Given the description of an element on the screen output the (x, y) to click on. 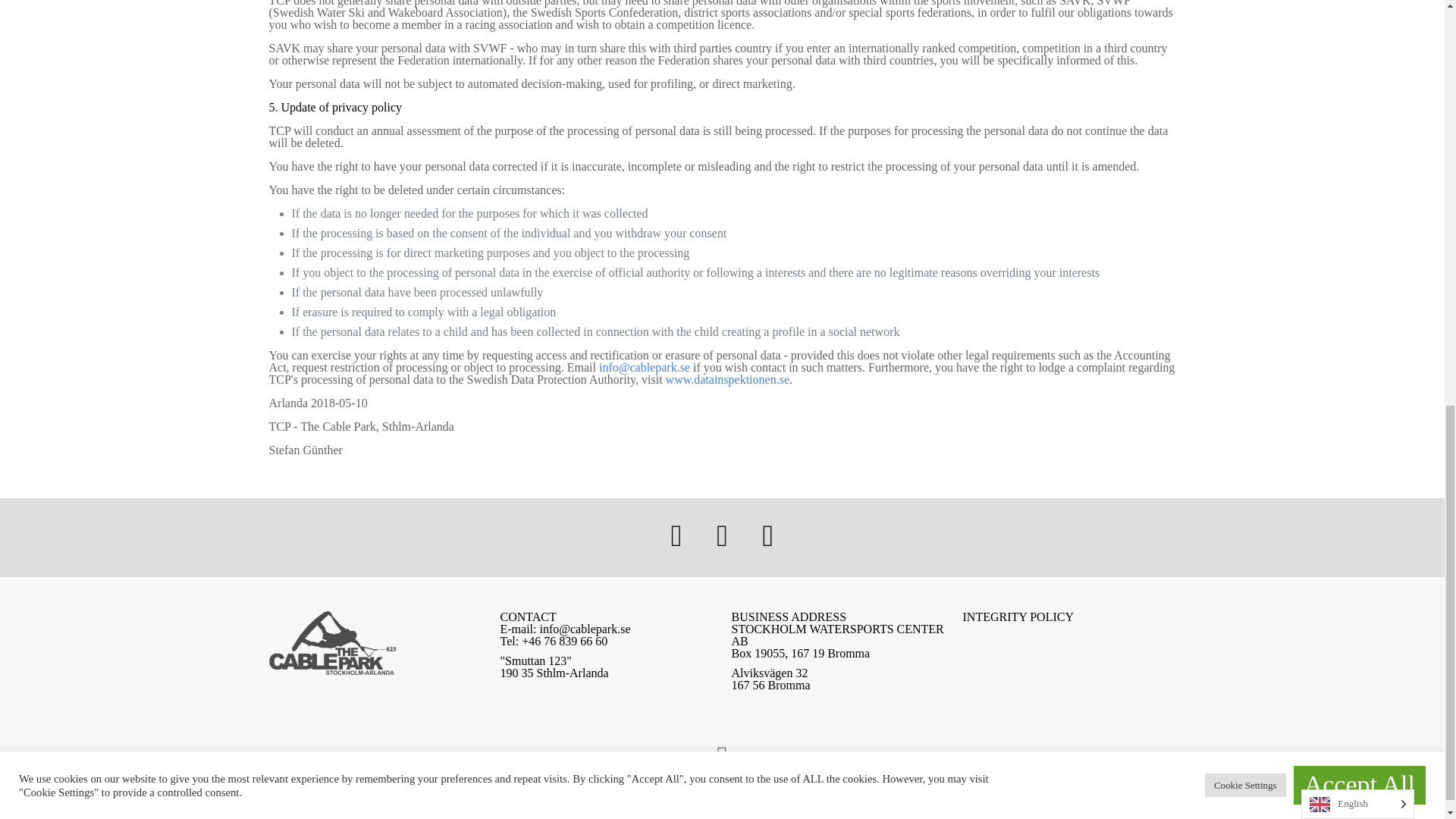
www.datainspektionen.se (727, 379)
